Given the description of an element on the screen output the (x, y) to click on. 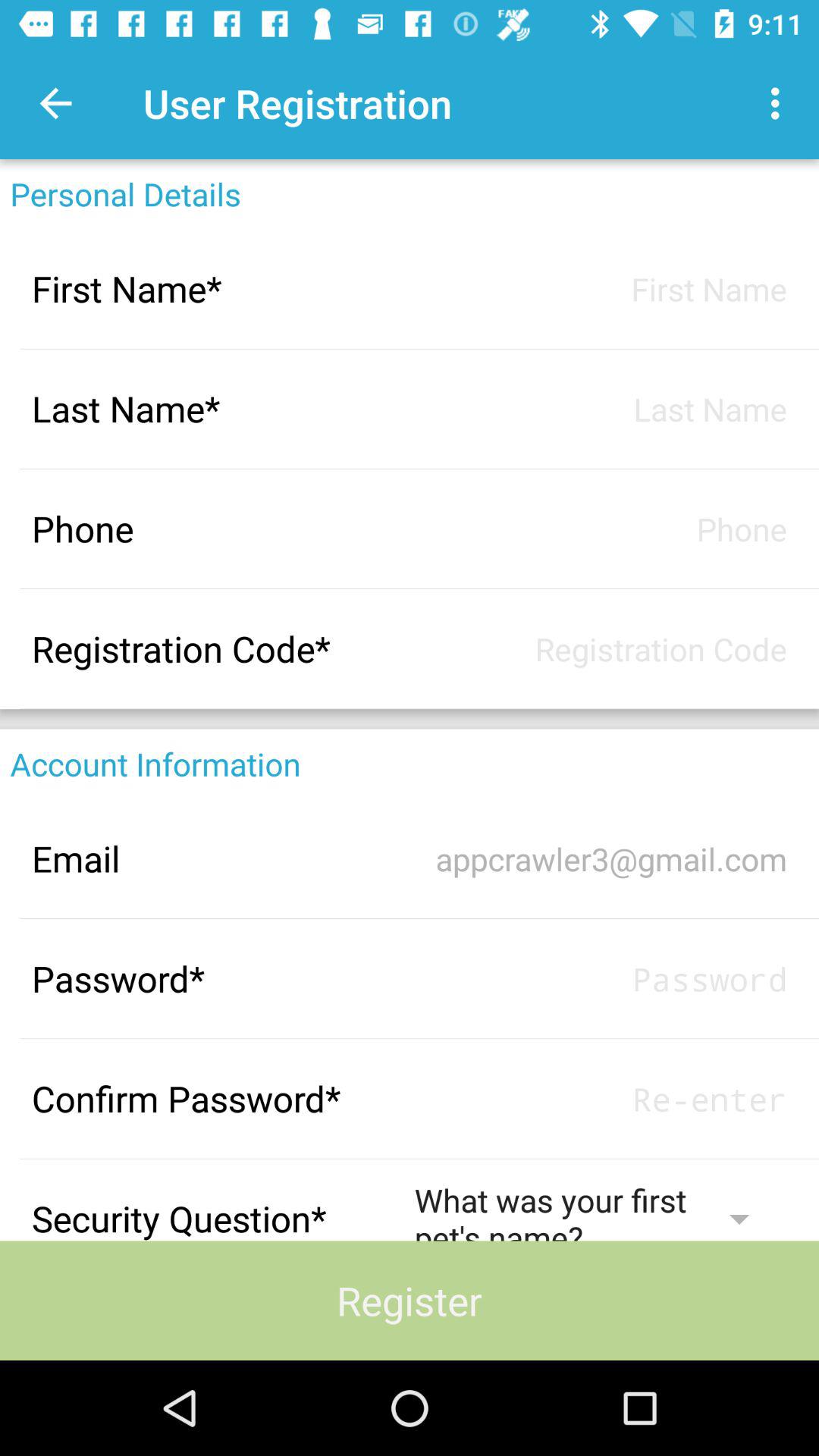
registration code field (600, 648)
